Given the description of an element on the screen output the (x, y) to click on. 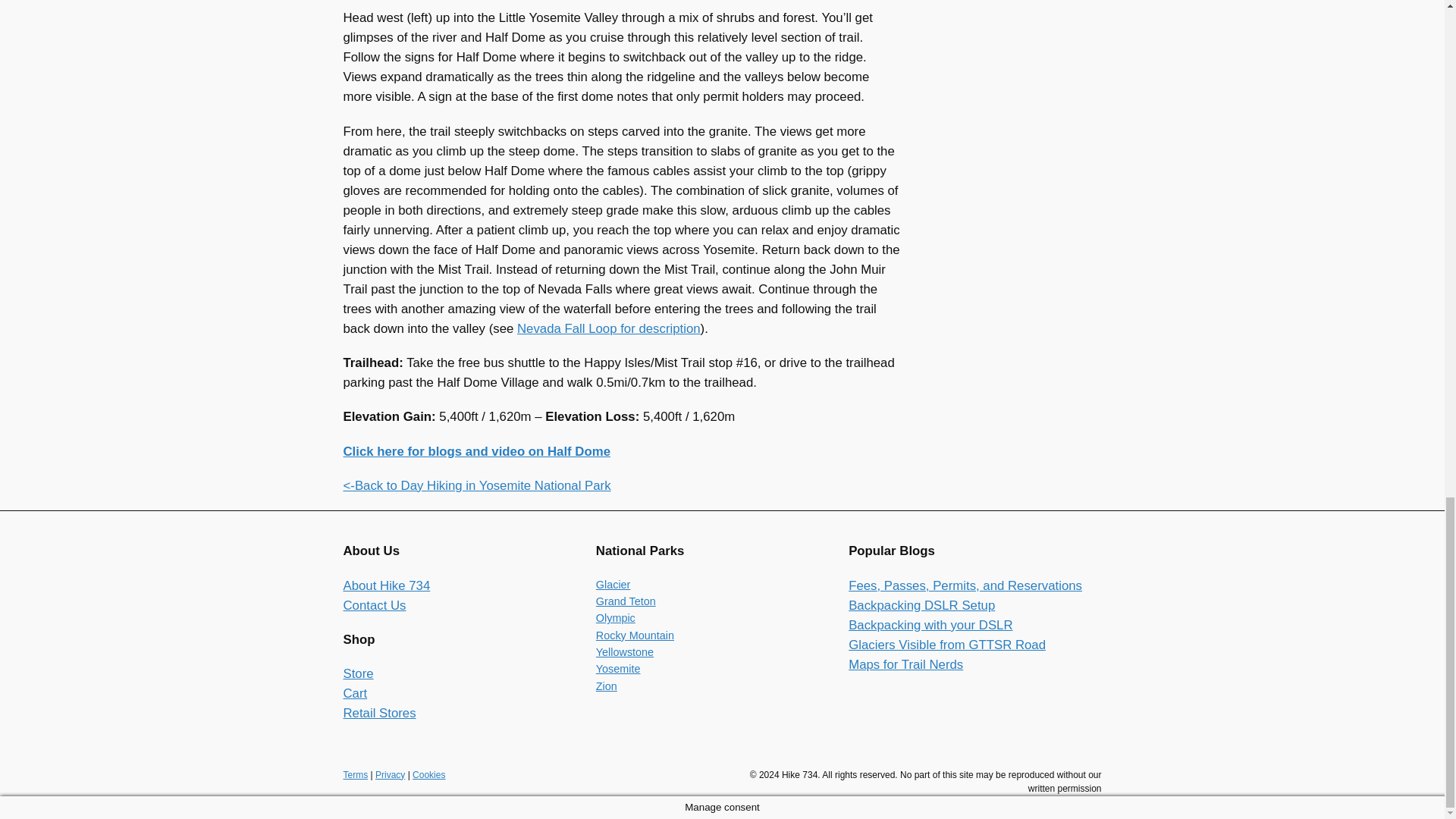
Contact Us (374, 605)
About Hike 734 (385, 585)
Grand Teton (625, 601)
Olympic (614, 617)
Glacier (612, 584)
Nevada Fall Loop for description (608, 328)
Click here for blogs and video on Half Dome (476, 451)
Yosemite (617, 668)
Store (357, 673)
Zion (606, 686)
